Given the description of an element on the screen output the (x, y) to click on. 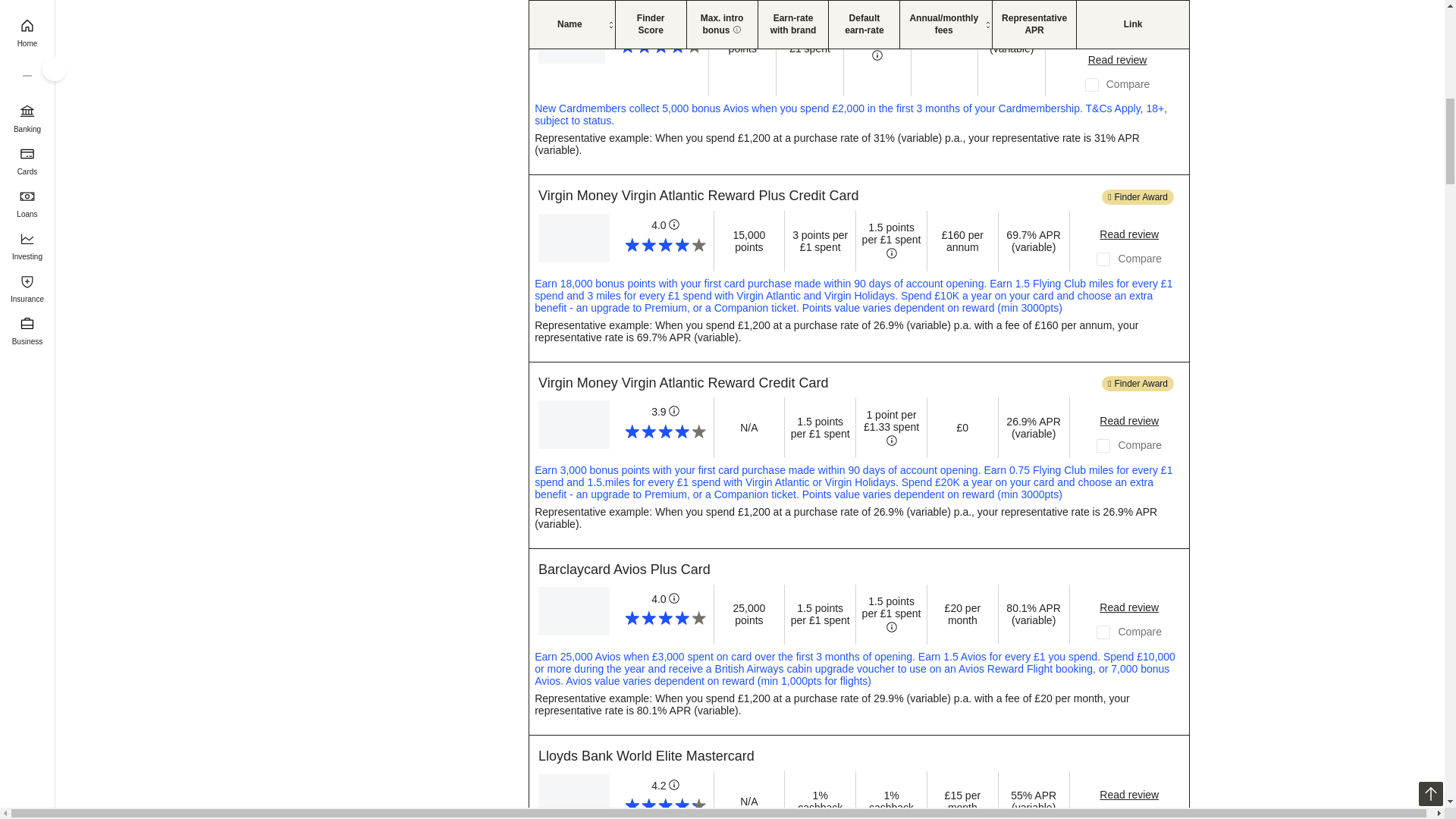
Read more about this card (1117, 60)
Read more about this card (1128, 234)
Check eligibility (1117, 15)
